Given the description of an element on the screen output the (x, y) to click on. 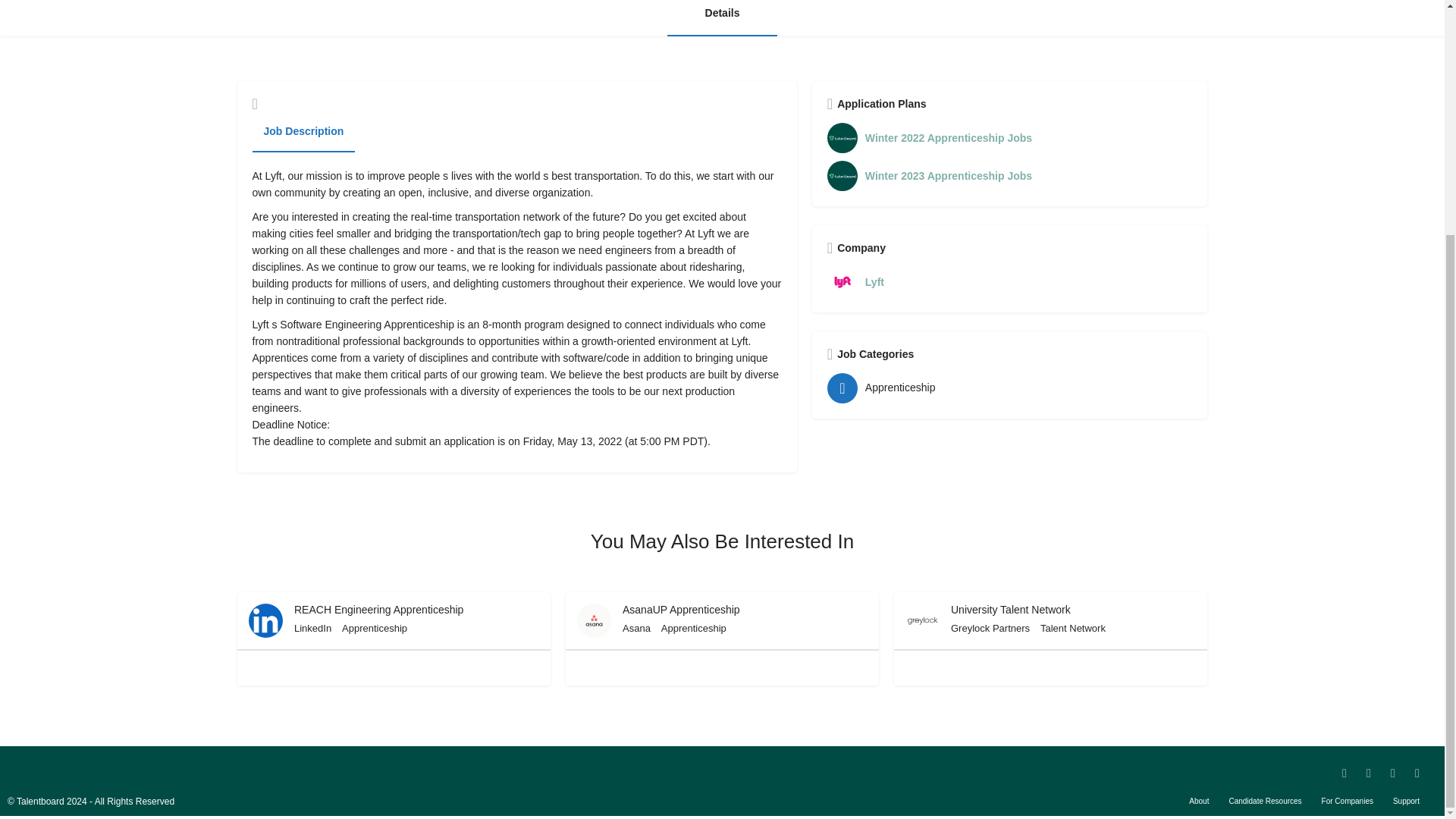
Lyft (1009, 281)
Winter 2022 Apprenticeship Jobs (1009, 137)
Job Description (303, 131)
Winter 2023 Apprenticeship Jobs (1009, 175)
Details (721, 18)
